Given the description of an element on the screen output the (x, y) to click on. 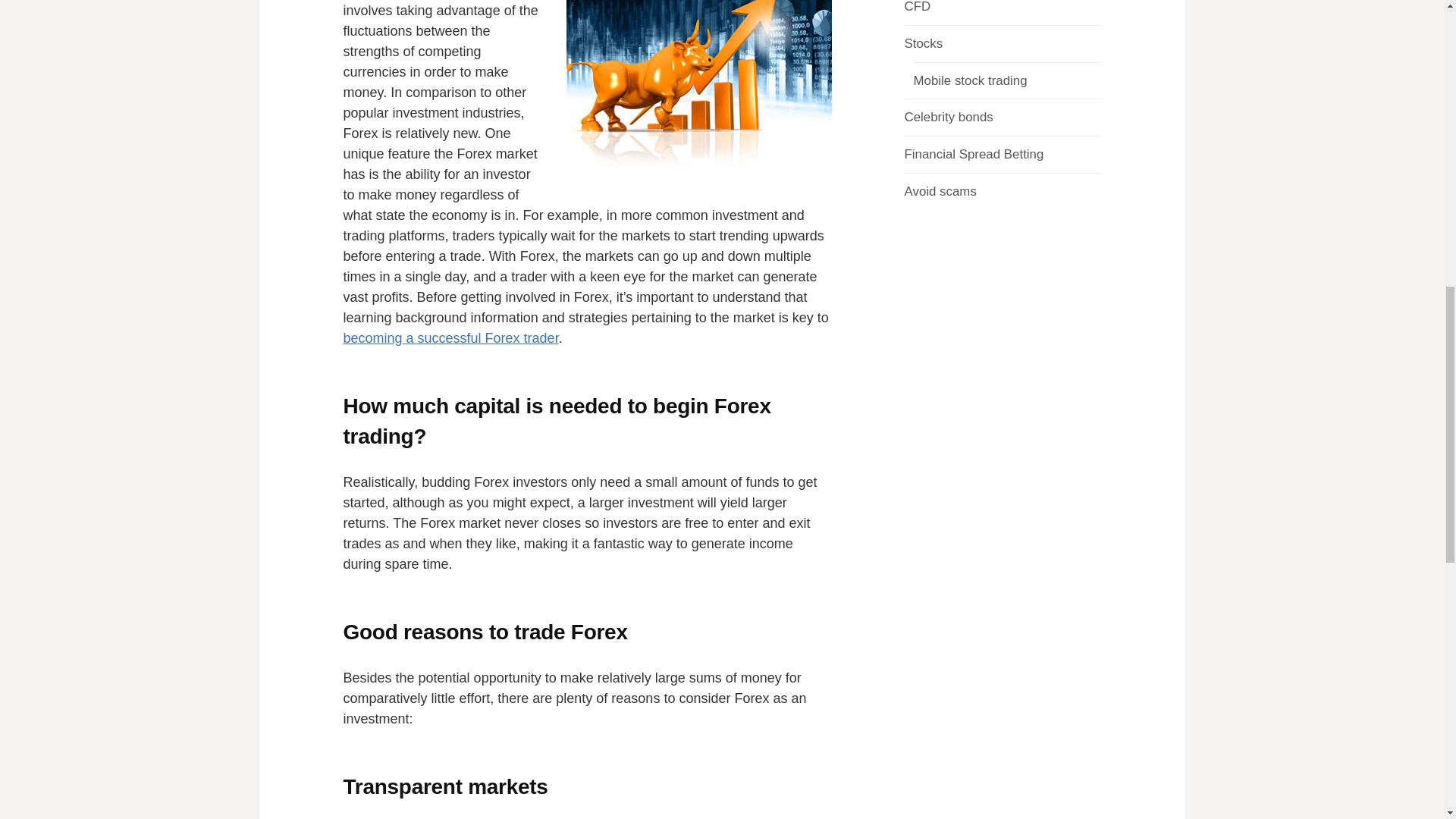
Financial Spread Betting (973, 154)
Stocks (923, 43)
Avoid scams (939, 191)
CFD (917, 6)
becoming a successful Forex trader (449, 337)
Celebrity bonds (948, 116)
Mobile stock trading (969, 80)
